Given the description of an element on the screen output the (x, y) to click on. 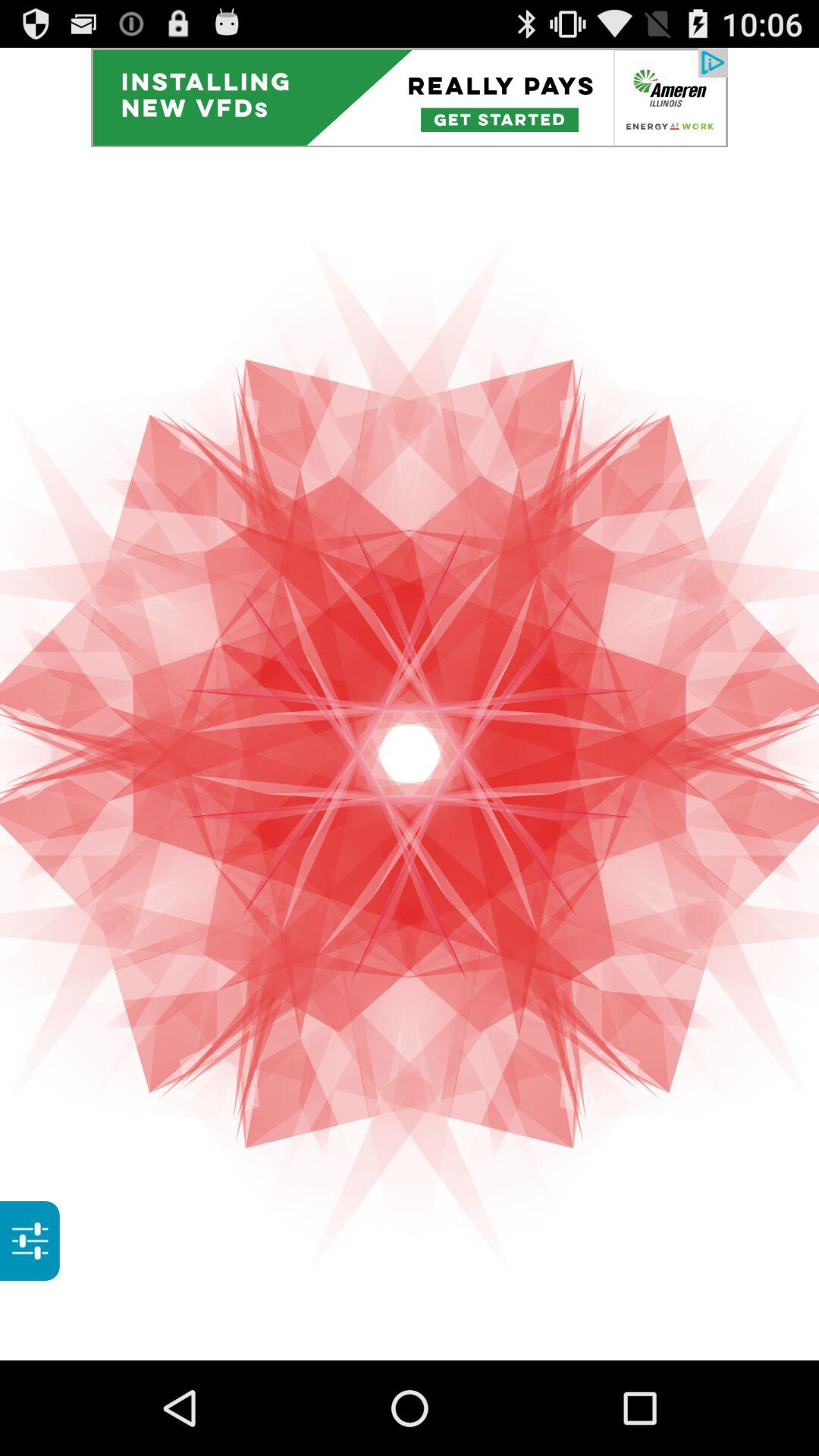
adjust equalizer (29, 1240)
